Given the description of an element on the screen output the (x, y) to click on. 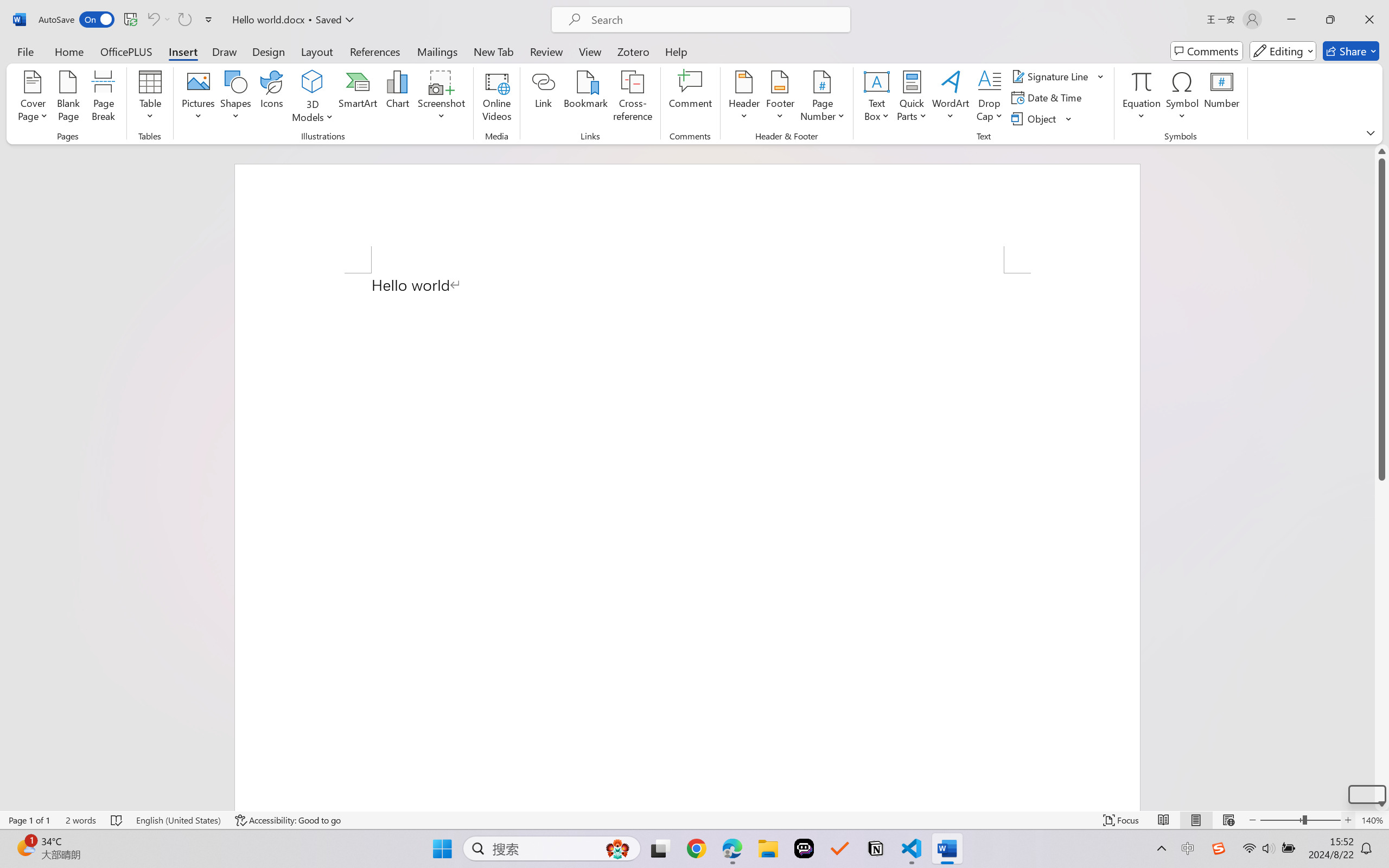
Mailings (437, 51)
AutoSave (76, 19)
References (375, 51)
3D Models (312, 81)
Online Videos... (496, 97)
Quick Parts (912, 97)
Save (130, 19)
Page Number (822, 97)
Object... (1035, 118)
Comment (689, 97)
Layout (316, 51)
Screenshot (441, 97)
Read Mode (1163, 819)
Draw (224, 51)
